Given the description of an element on the screen output the (x, y) to click on. 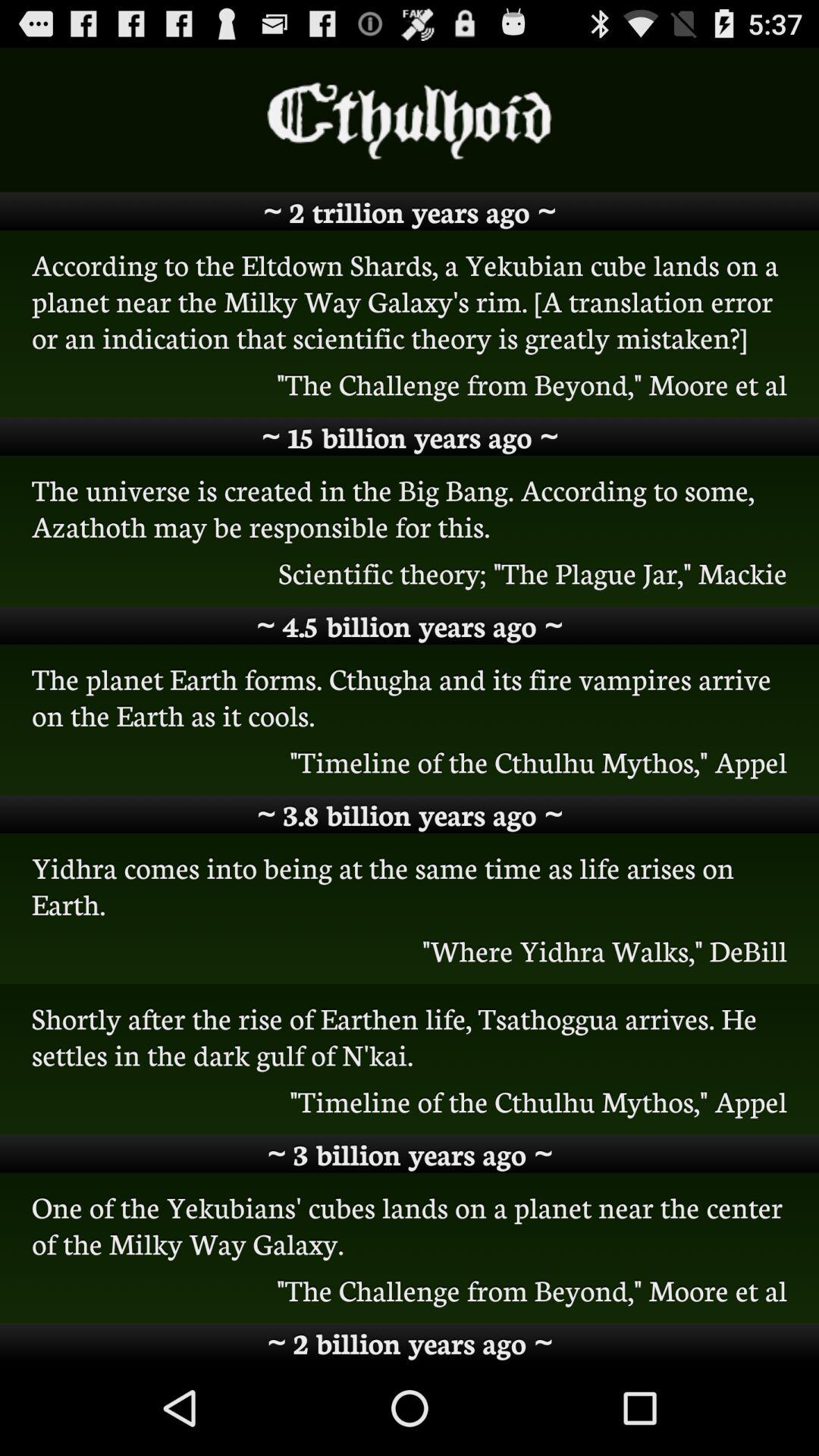
tap the item above scientific theory the icon (409, 507)
